Given the description of an element on the screen output the (x, y) to click on. 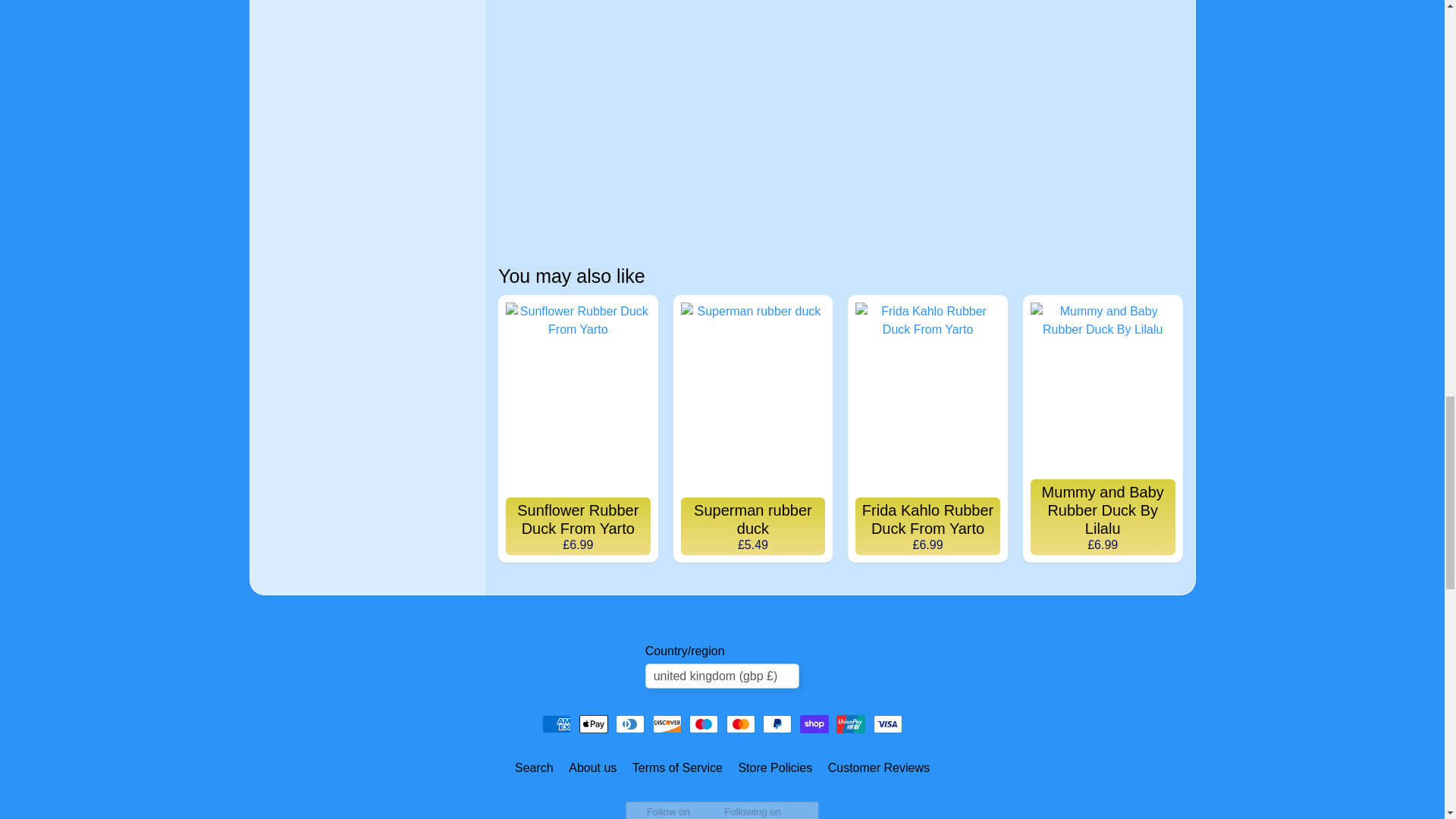
Maestro (702, 723)
Diners Club (630, 723)
PayPal (777, 723)
Discover (666, 723)
Mastercard (740, 723)
American Express (555, 723)
Apple Pay (593, 723)
